Given the description of an element on the screen output the (x, y) to click on. 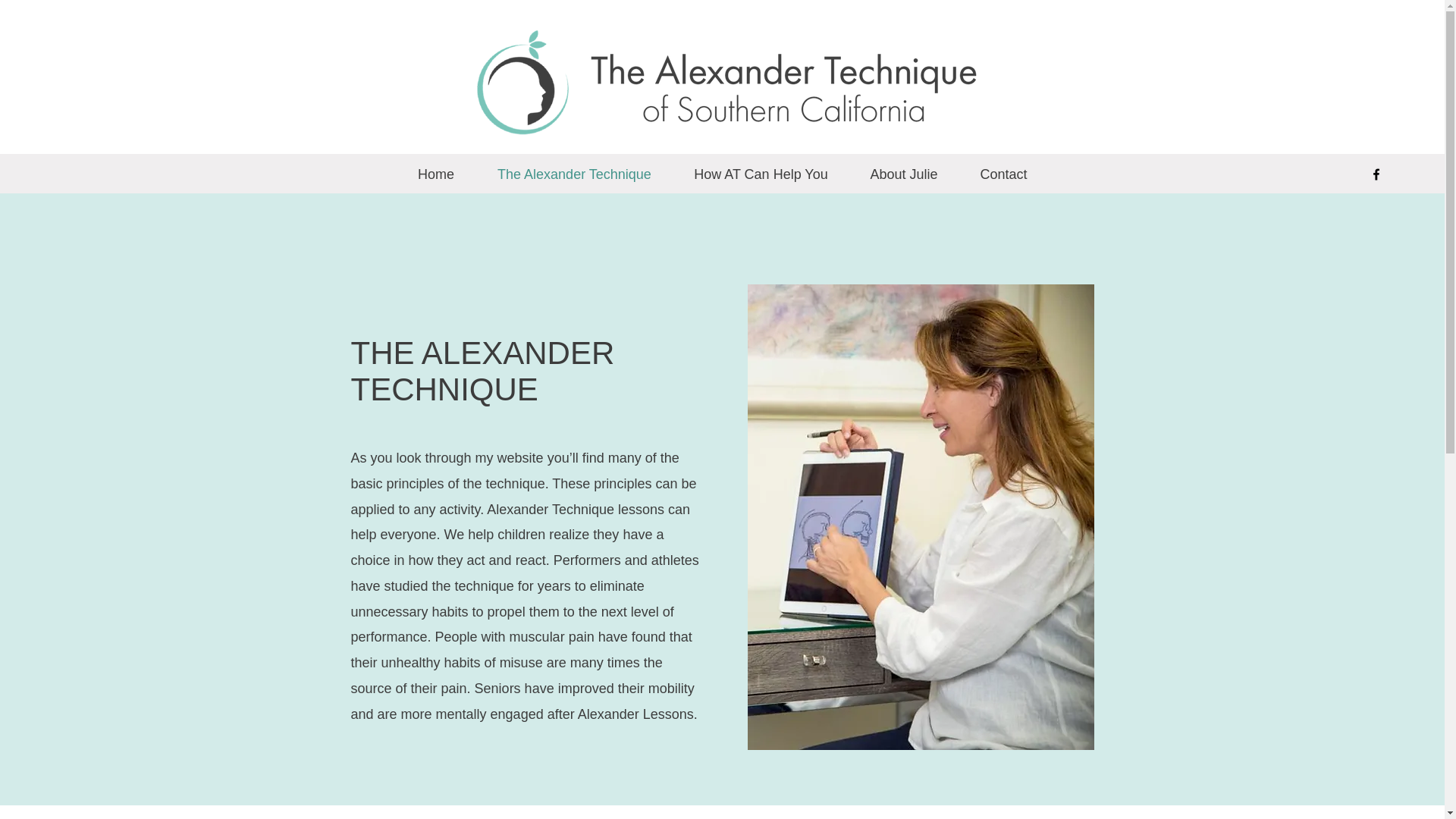
About Julie (903, 173)
Home (436, 173)
The Alexander Technique (574, 173)
Contact (1003, 173)
How AT Can Help You (760, 173)
